Given the description of an element on the screen output the (x, y) to click on. 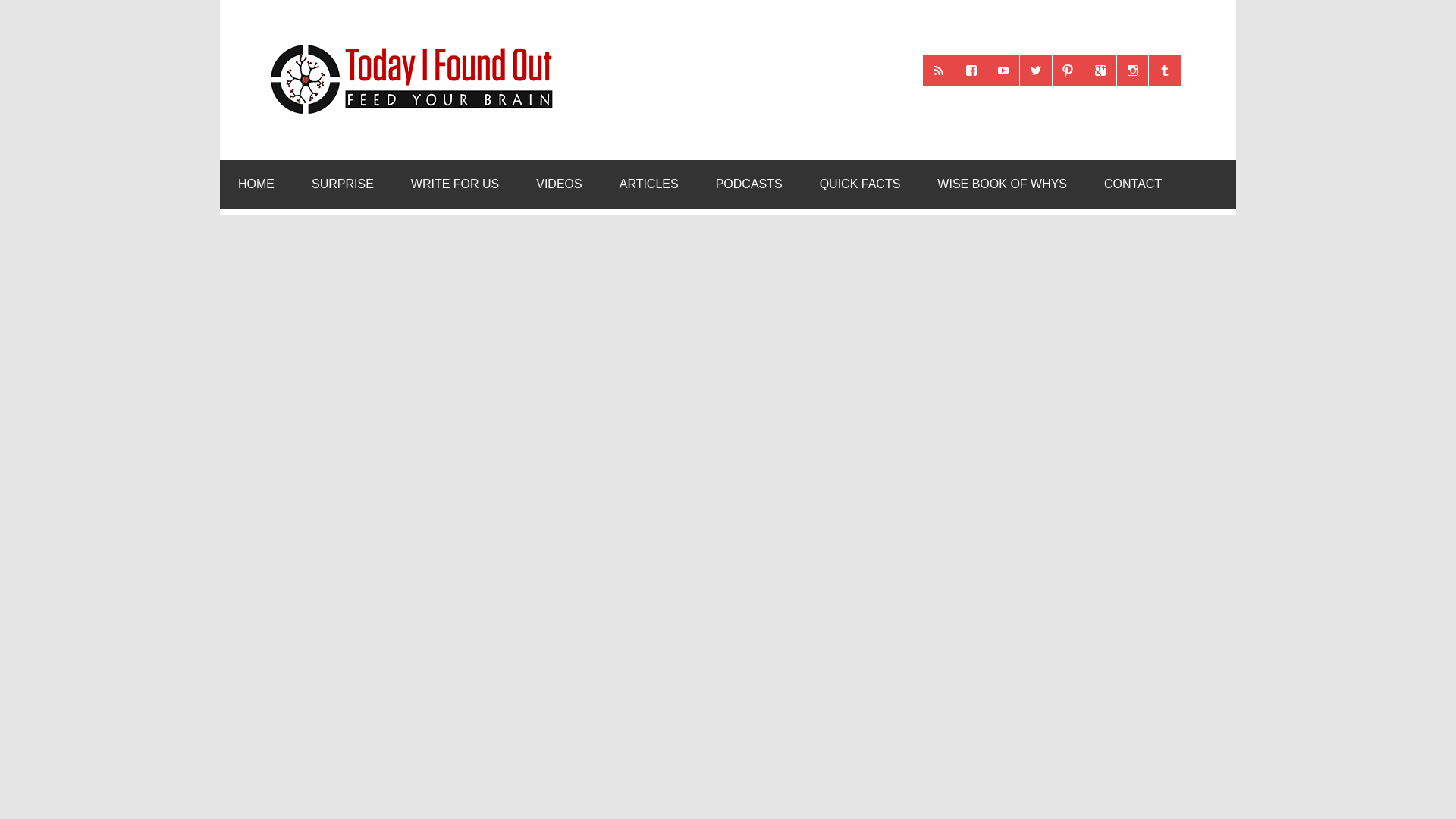
Interesting Facts (860, 183)
PODCASTS (748, 183)
CONTACT (1132, 183)
WISE BOOK OF WHYS (1001, 183)
QUICK FACTS (860, 183)
WRITE FOR US (454, 183)
ARTICLES (649, 183)
VIDEOS (558, 183)
HOME (255, 183)
Today I Found Out (405, 42)
SURPRISE (342, 183)
